Given the description of an element on the screen output the (x, y) to click on. 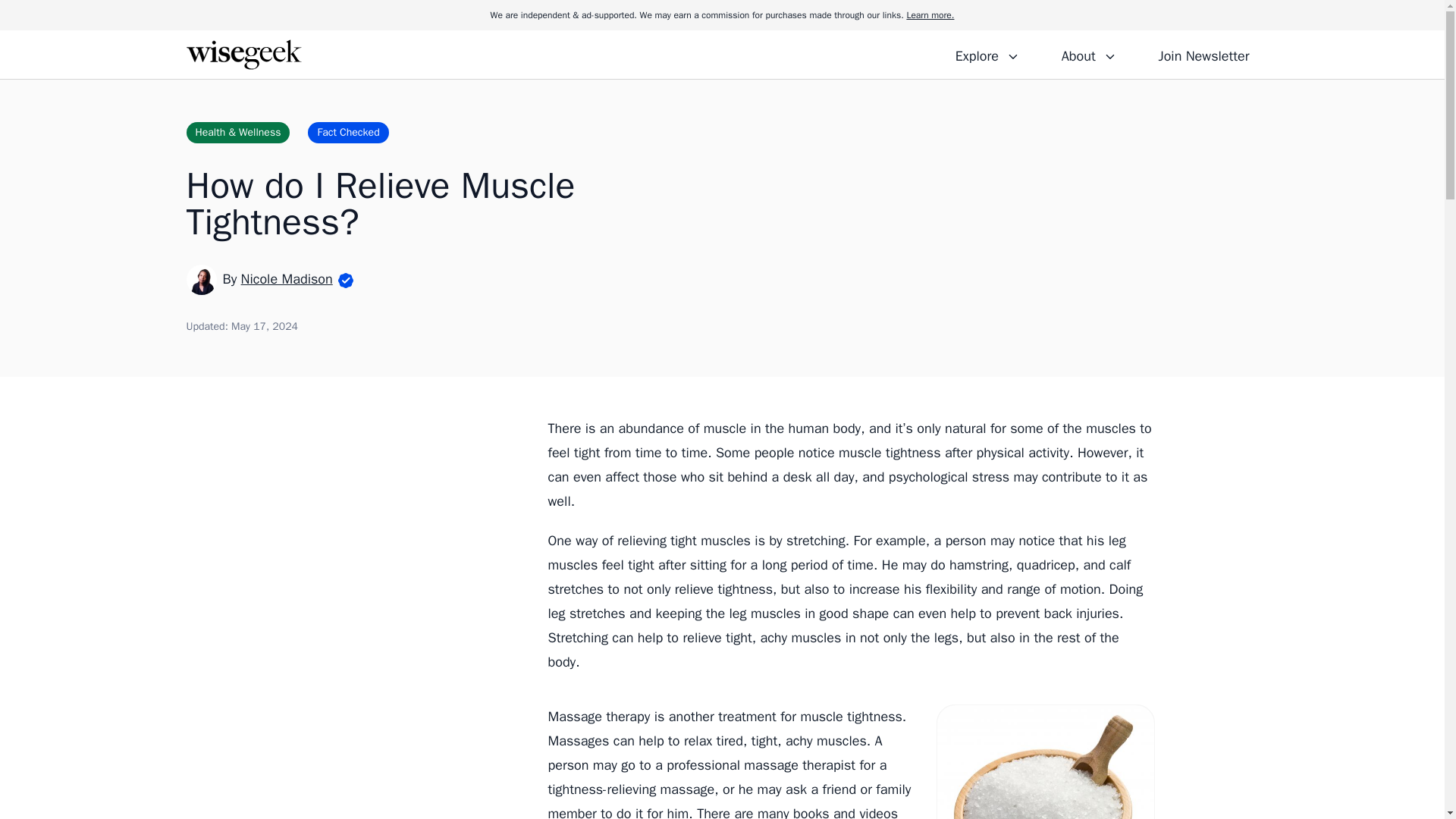
Explore (986, 54)
Fact Checked (347, 132)
Nicole Madison (287, 279)
Learn more. (929, 15)
About (1088, 54)
Join Newsletter (1202, 54)
